Given the description of an element on the screen output the (x, y) to click on. 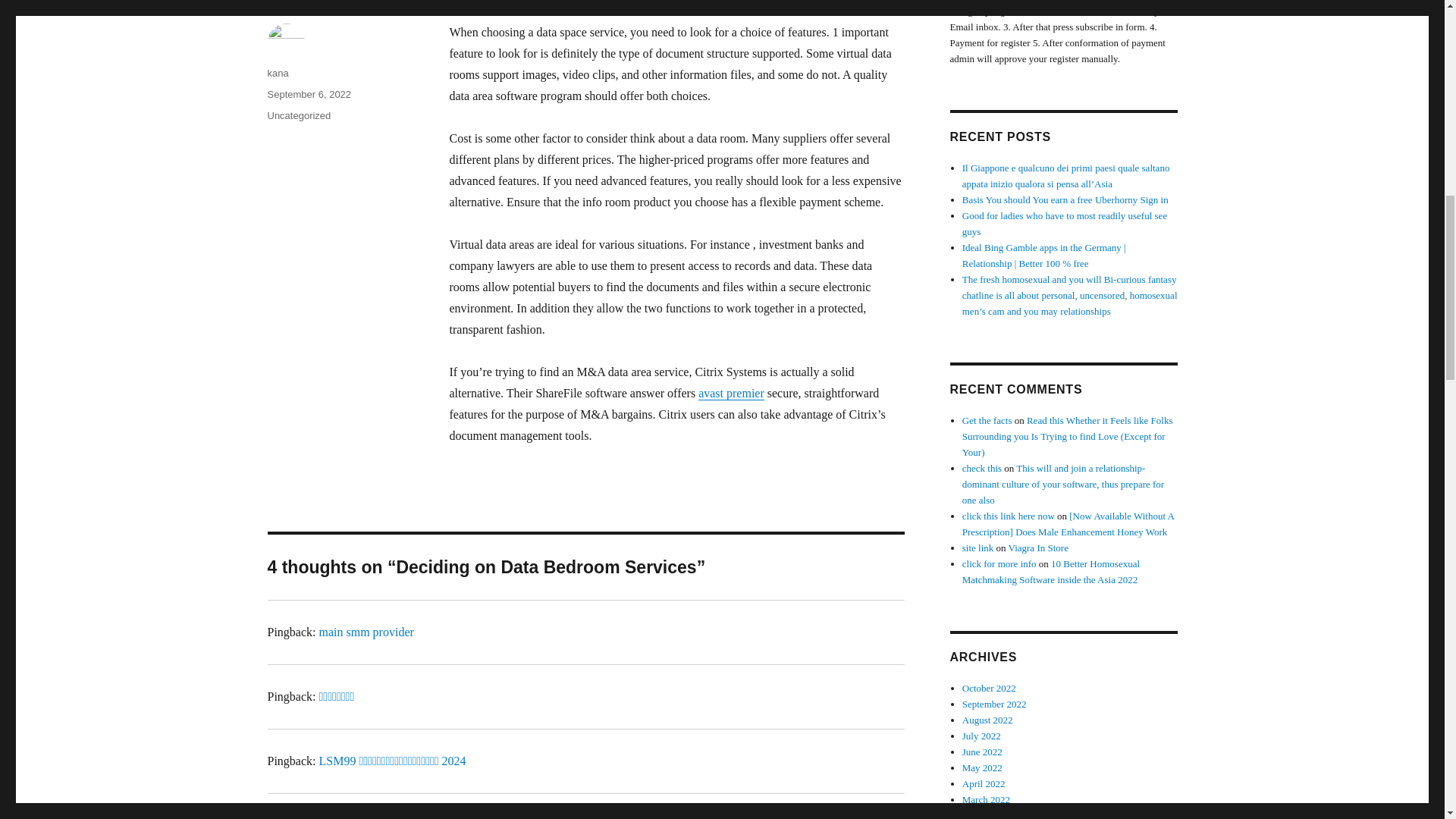
main smm provider (365, 631)
kana (277, 72)
Good for ladies who have to most readily useful see guys (1064, 223)
Uncategorized (298, 115)
avast premier (731, 392)
September 6, 2022 (308, 93)
Basis You should You earn a free Uberhorny Sign in (1065, 199)
